Given the description of an element on the screen output the (x, y) to click on. 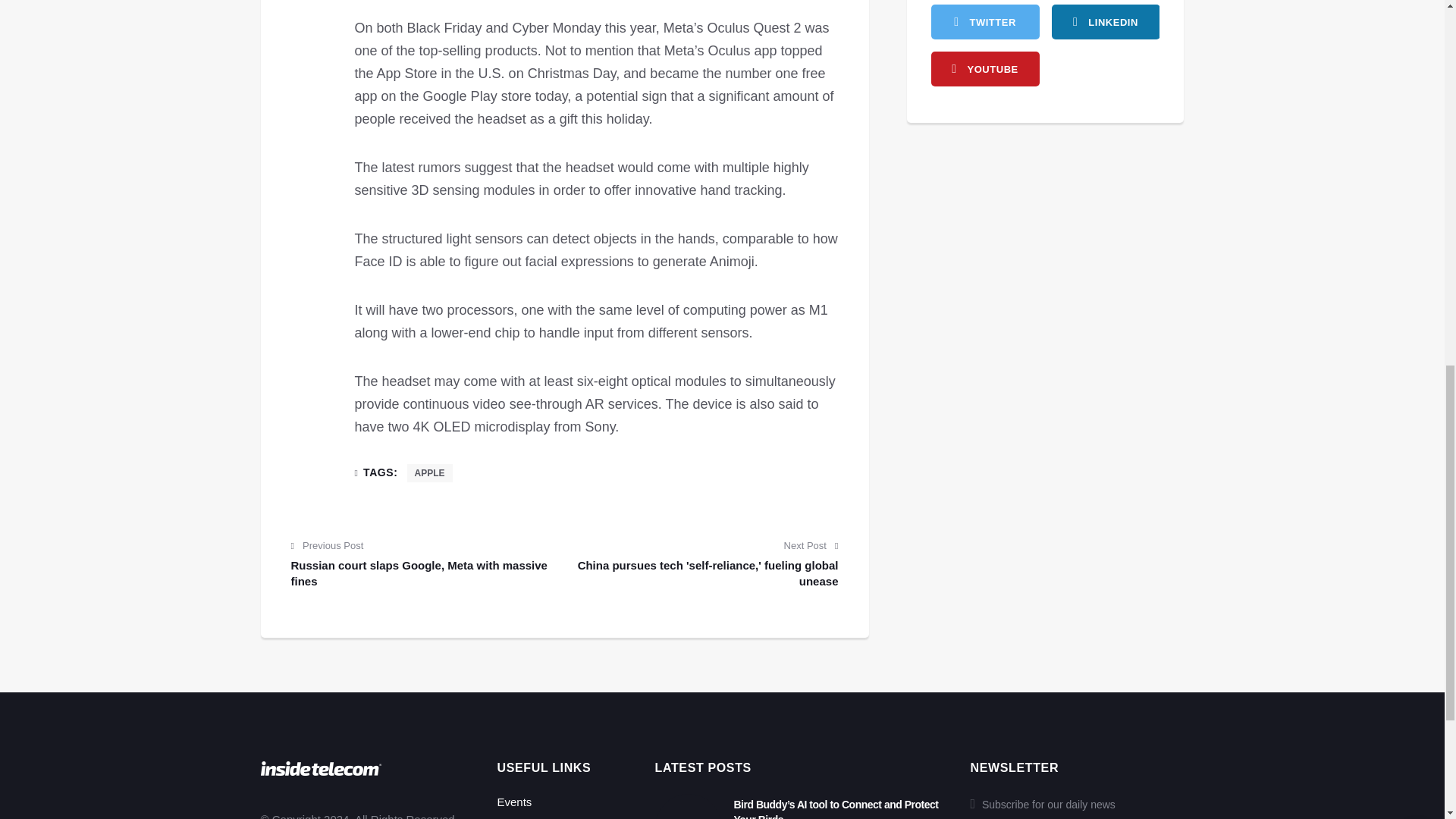
youtube (985, 68)
rss (1104, 21)
twitter (985, 21)
